Given the description of an element on the screen output the (x, y) to click on. 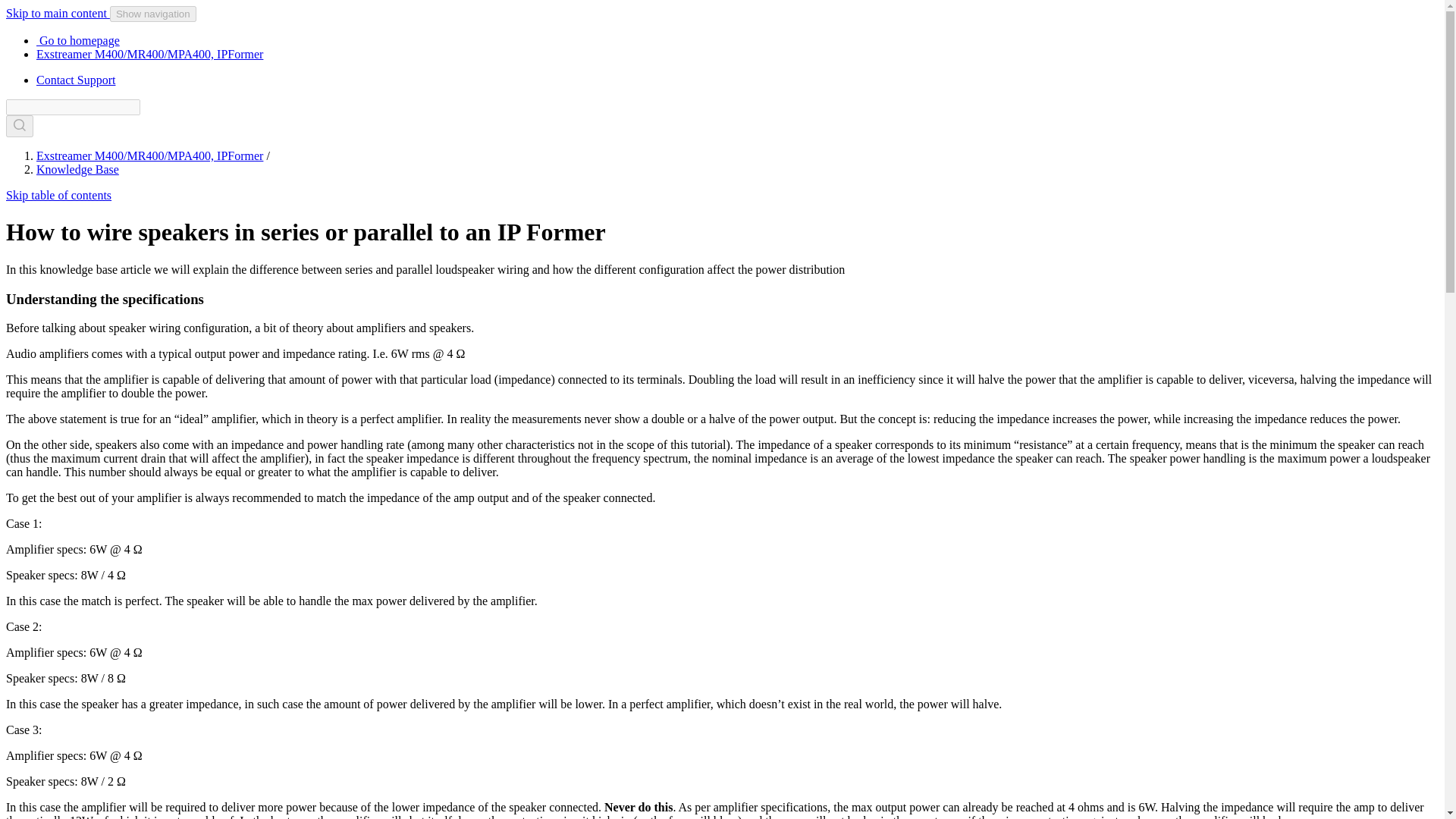
Go to homepage (77, 40)
Skip to main content (57, 12)
Show navigation (153, 13)
Contact Support (75, 79)
Knowledge Base (77, 169)
Skip table of contents (58, 195)
